Given the description of an element on the screen output the (x, y) to click on. 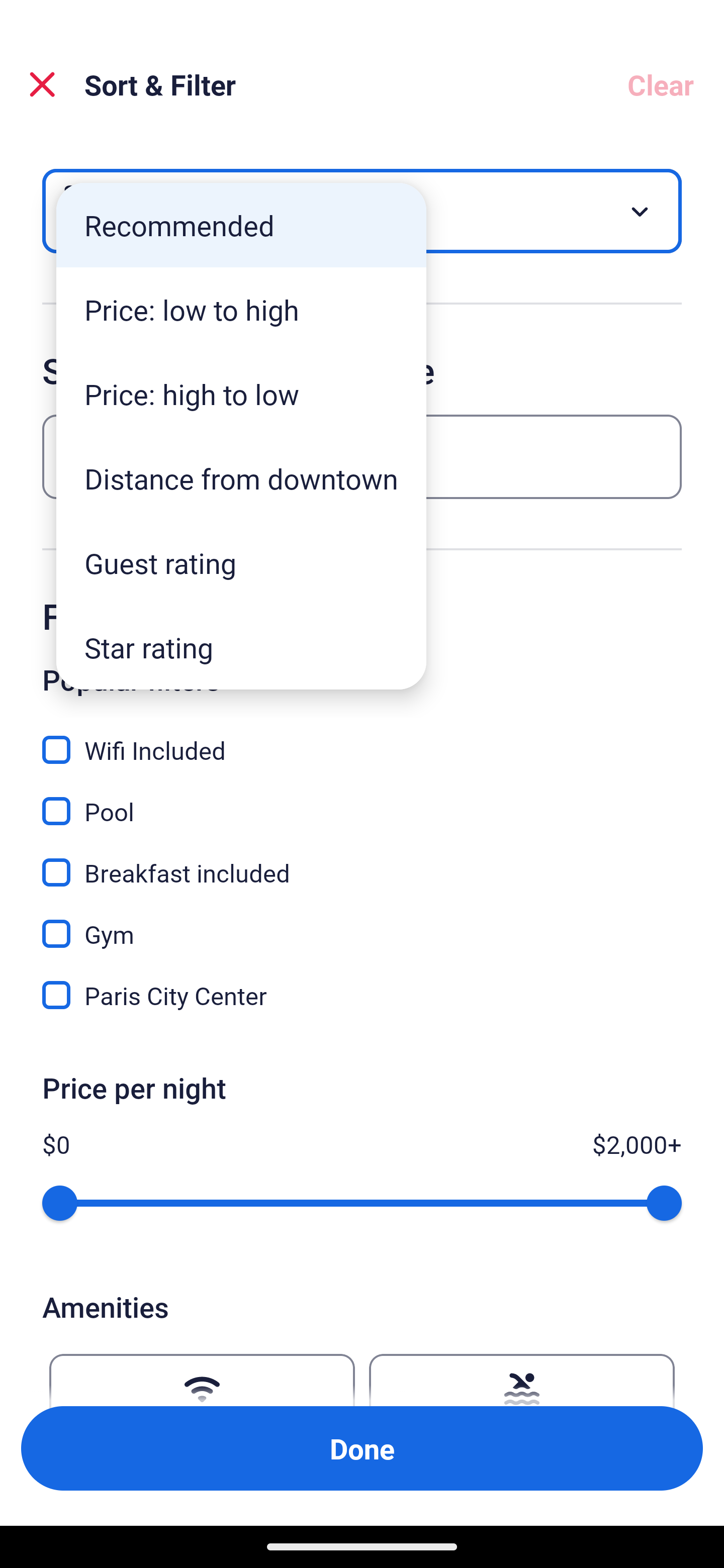
Price: low to high (241, 309)
Price: high to low (241, 393)
Distance from downtown (241, 477)
Guest rating (241, 562)
Star rating (241, 647)
